Given the description of an element on the screen output the (x, y) to click on. 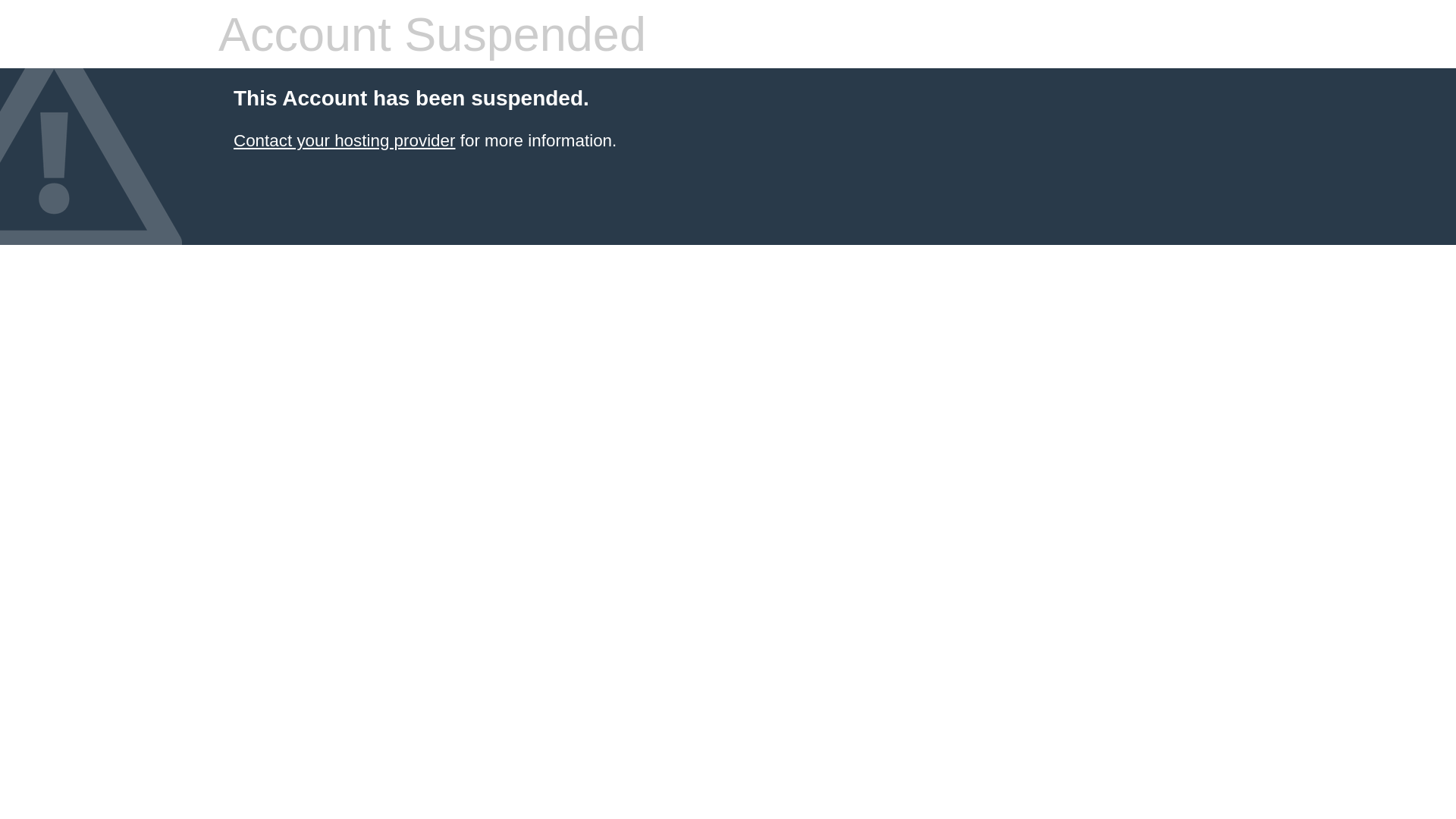
Contact your hosting provider Element type: text (344, 140)
